Given the description of an element on the screen output the (x, y) to click on. 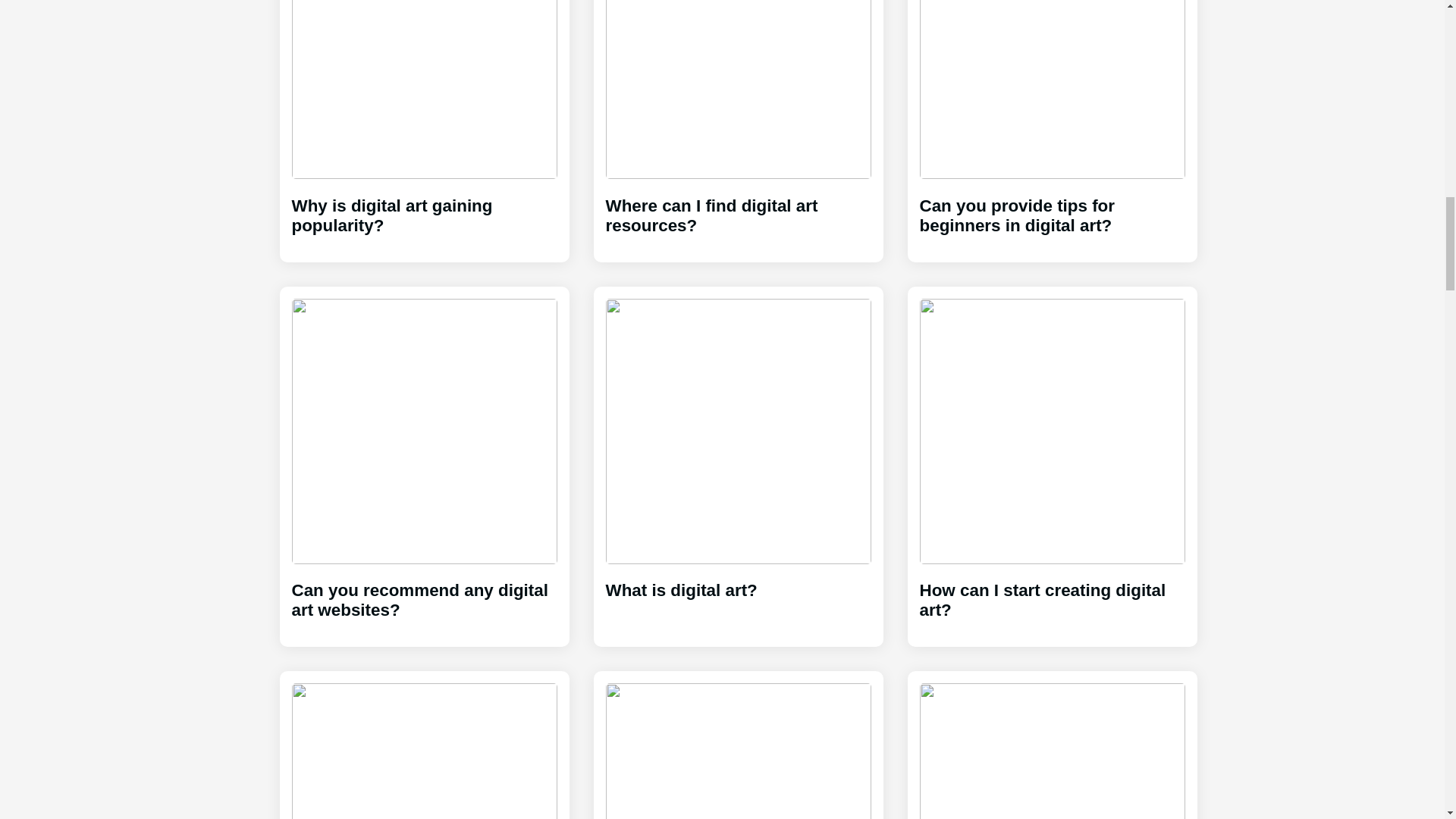
Why is digital art gaining popularity? (423, 124)
Can you provide tips for beginners in digital art? (1051, 124)
Why is digital art gaining popularity? (423, 124)
How can I create an outline for digital art? (1051, 751)
What is the concept of digital art? (423, 751)
Can you provide tips for beginners in digital art? (1051, 124)
Where can I find digital art resources? (737, 124)
Can I find digital art featuring girls (737, 751)
Where can I find digital art resources? (737, 124)
